Given the description of an element on the screen output the (x, y) to click on. 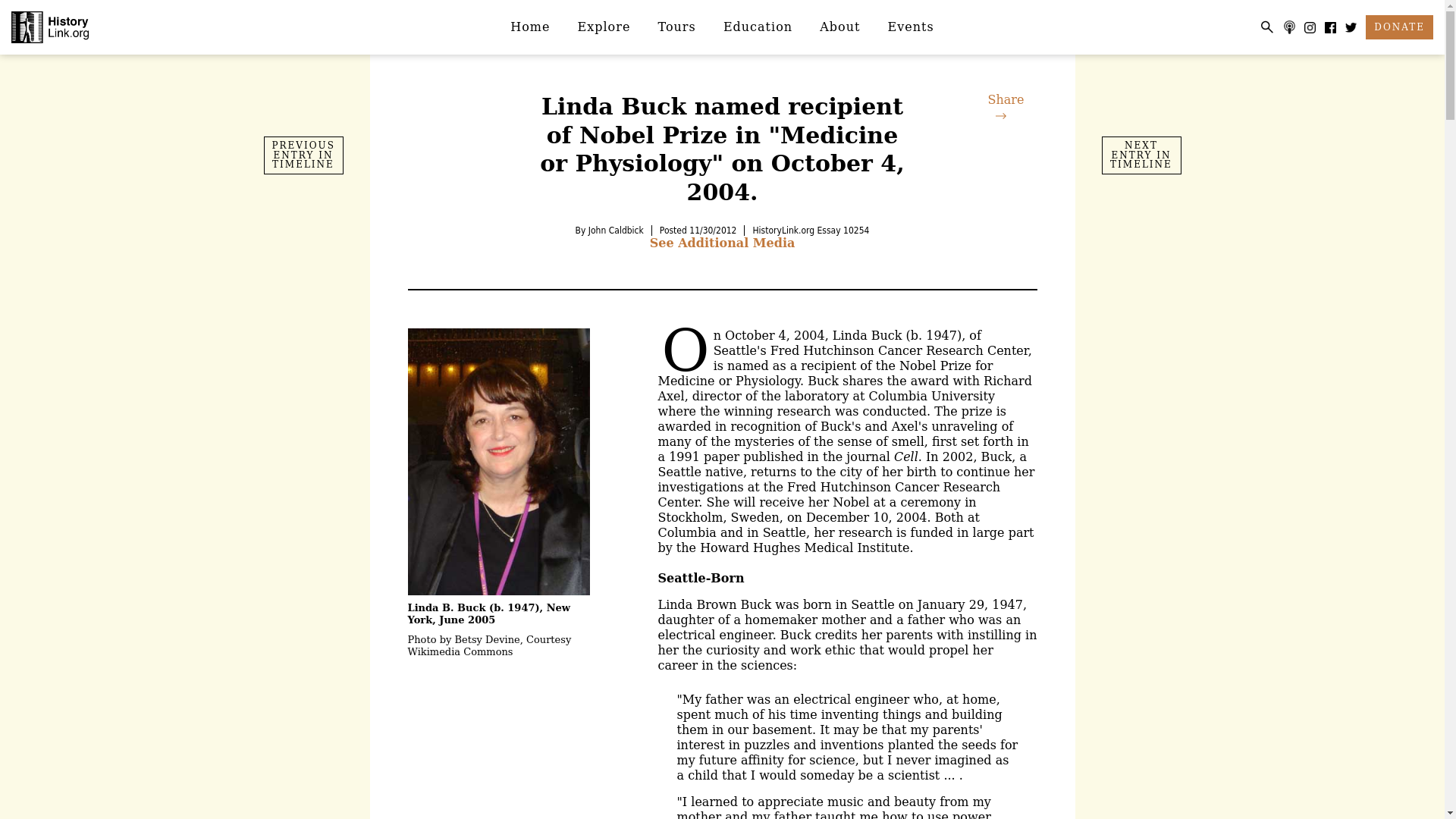
Previous File (303, 155)
Explore (604, 26)
Tours (677, 26)
About (839, 26)
Events (911, 26)
Home (529, 26)
NEXT ENTRY IN TIMELINE (1140, 155)
PREVIOUS ENTRY IN TIMELINE (303, 155)
DONATE (1398, 27)
Next File (1140, 155)
